Given the description of an element on the screen output the (x, y) to click on. 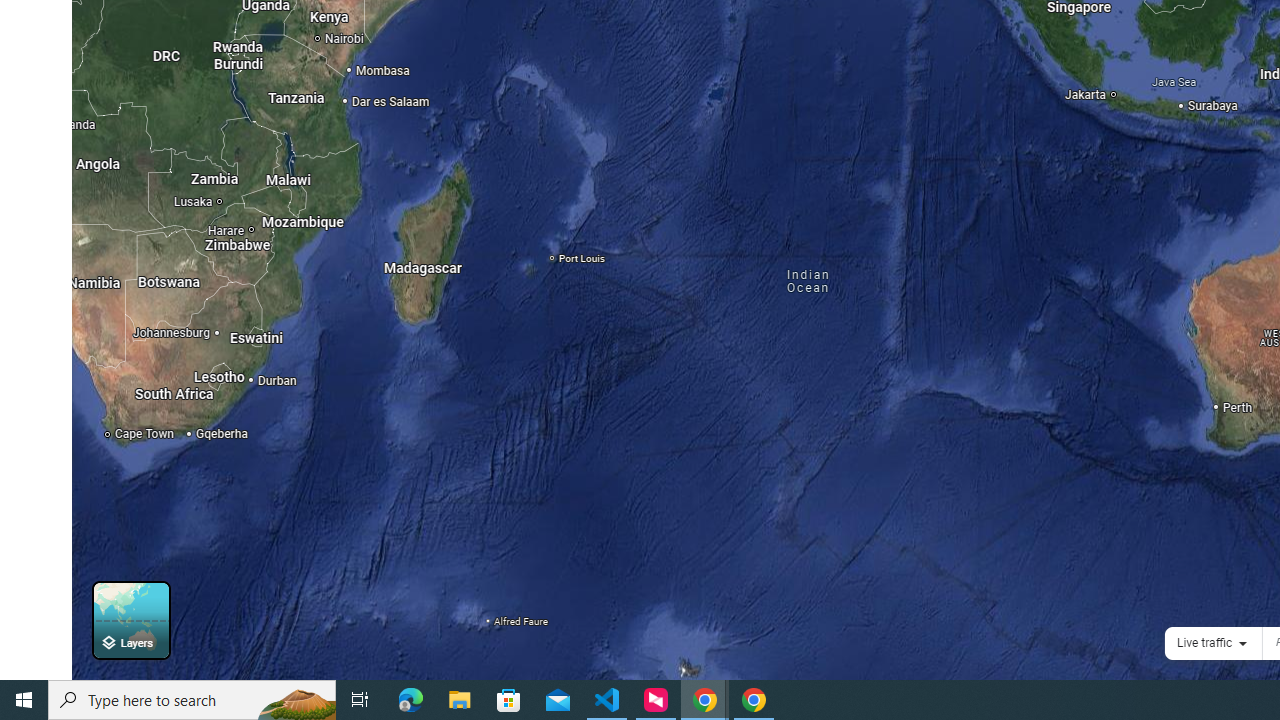
Live traffic (1204, 642)
Layers (130, 620)
